Given the description of an element on the screen output the (x, y) to click on. 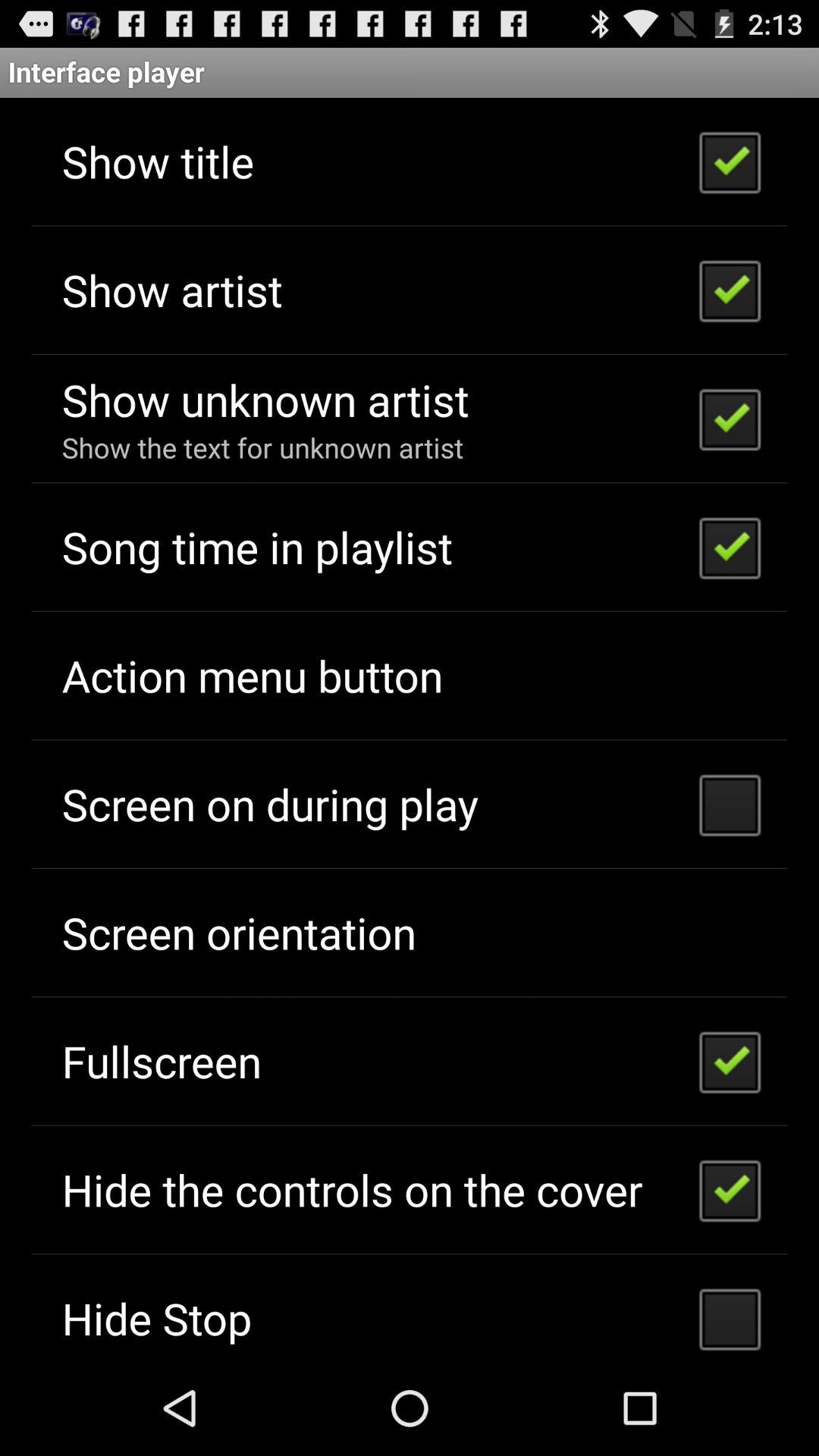
turn on song time in (256, 546)
